Given the description of an element on the screen output the (x, y) to click on. 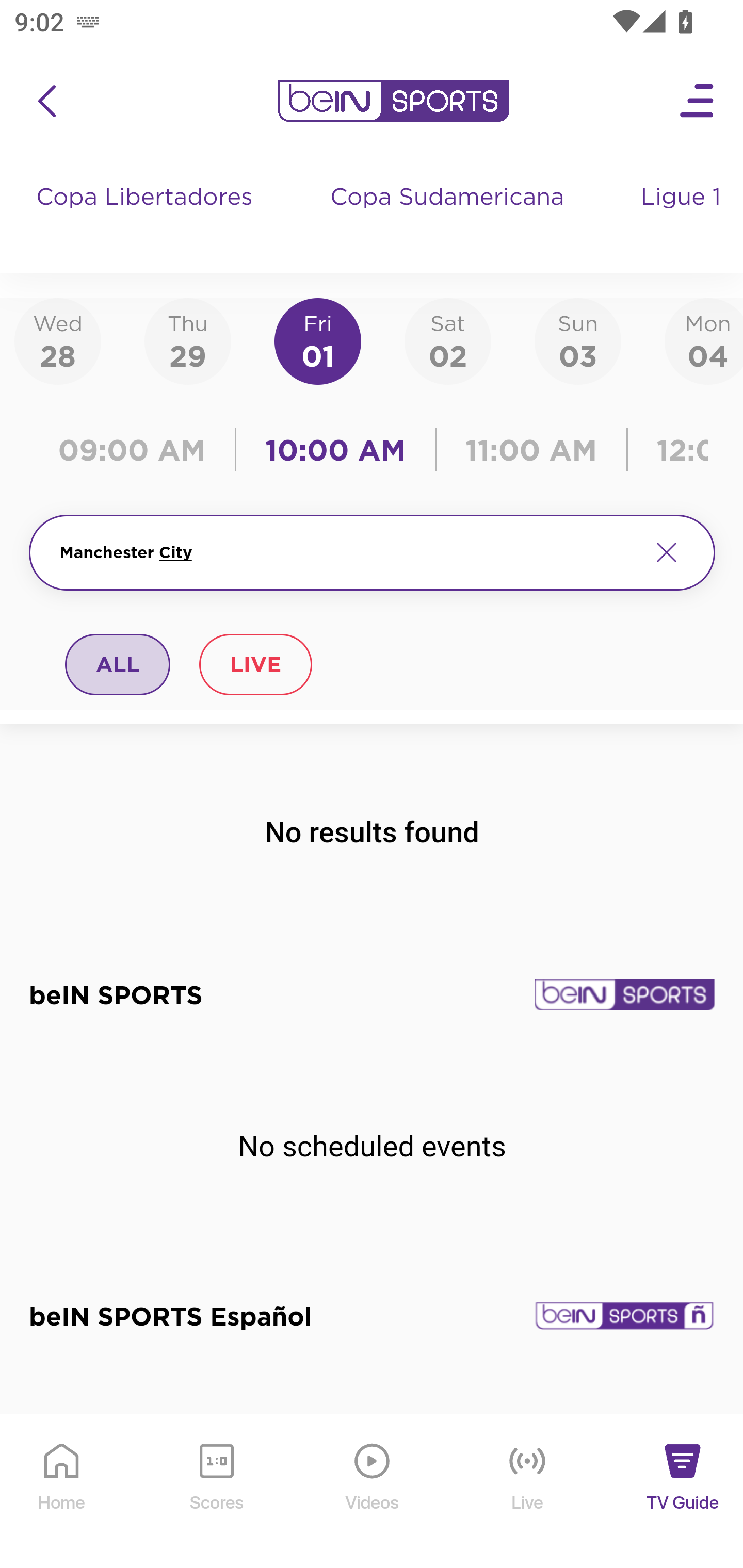
en-us?platform=mobile_android bein logo (392, 101)
icon back (46, 101)
Open Menu Icon (697, 101)
Copa Libertadores (146, 216)
Copa Sudamericana (448, 216)
Ligue 1 (682, 216)
Wed28 (58, 340)
Thu29 (187, 340)
Fri01 (318, 340)
Sat02 (447, 340)
Sun03 (578, 340)
Mon04 (703, 340)
09:00 AM (136, 449)
10:00 AM (335, 449)
11:00 AM (531, 449)
Manchester City (346, 552)
ALL (118, 663)
LIVE (255, 663)
Home Home Icon Home (61, 1491)
Scores Scores Icon Scores (216, 1491)
Videos Videos Icon Videos (372, 1491)
TV Guide TV Guide Icon TV Guide (682, 1491)
